Given the description of an element on the screen output the (x, y) to click on. 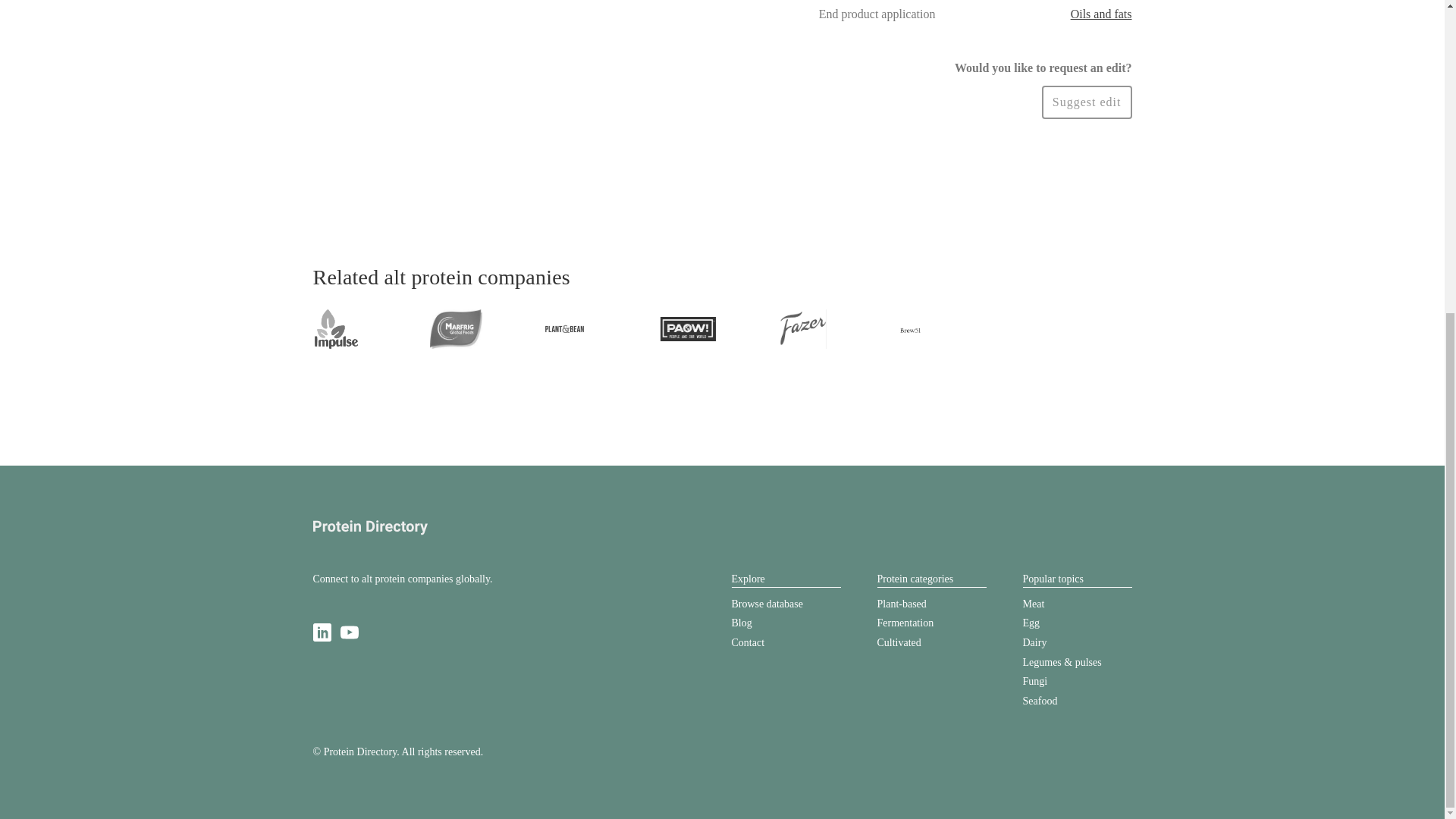
Oils and fats (1101, 13)
Suggest edit (1087, 101)
Connect to alt protein companies globally. (402, 579)
